Given the description of an element on the screen output the (x, y) to click on. 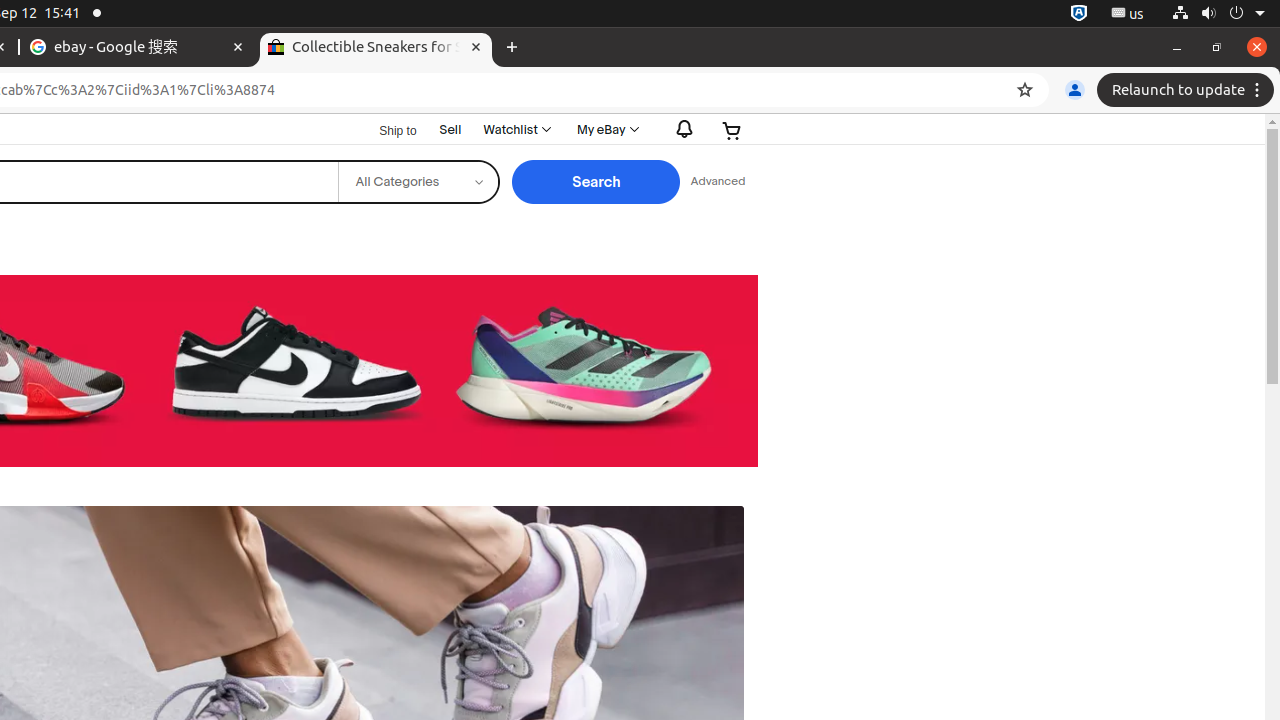
Relaunch to update Element type: push-button (1188, 90)
You Element type: push-button (1075, 90)
My eBay Element type: link (606, 130)
All Categories Element type: menu-item (418, 182)
Ship to Element type: push-button (385, 131)
